Given the description of an element on the screen output the (x, y) to click on. 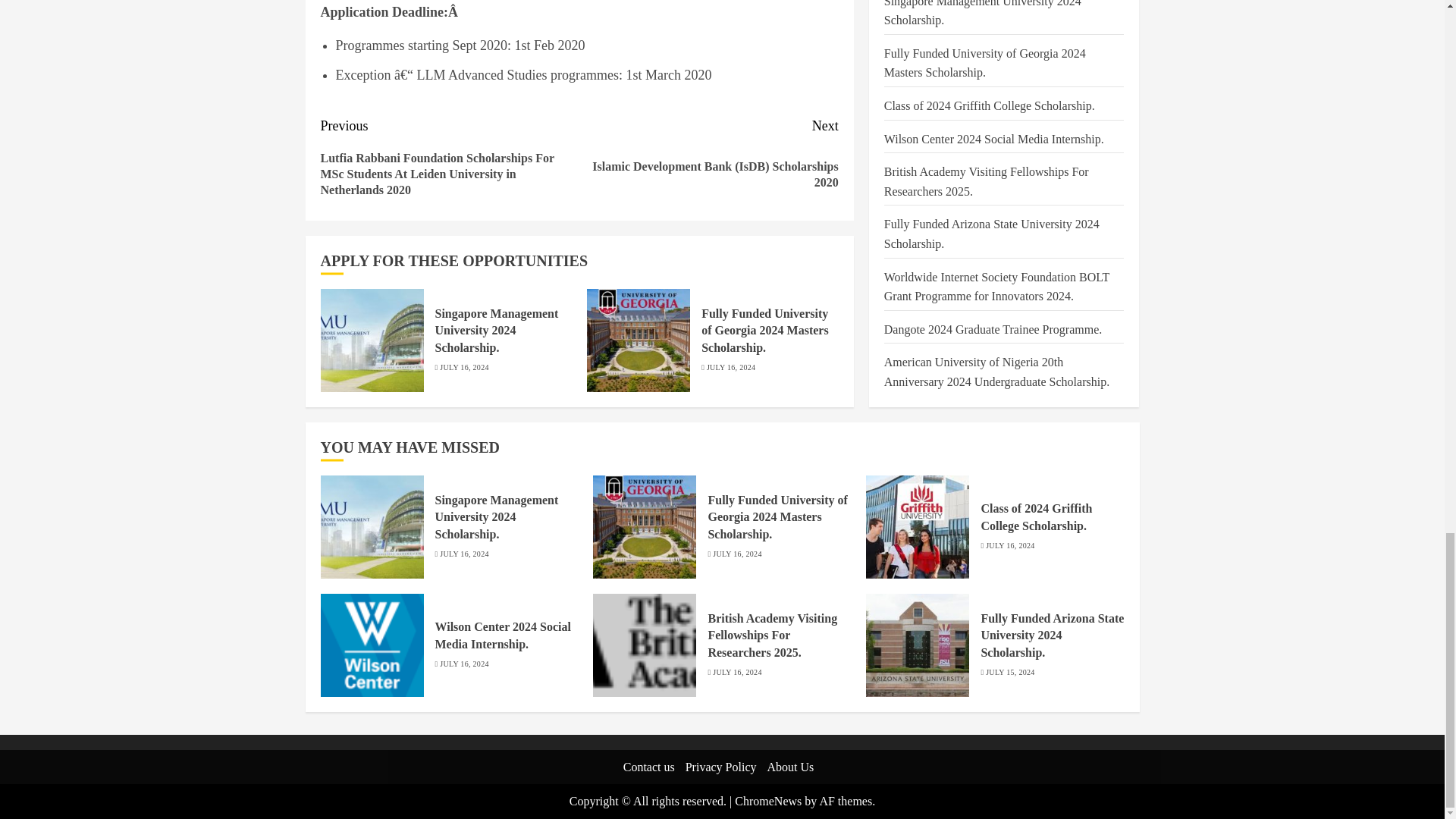
Singapore Management University 2024 Scholarship. (371, 526)
Singapore Management University 2024 Scholarship. (497, 517)
Singapore Management University 2024 Scholarship. (371, 340)
Fully Funded University of Georgia 2024 Masters Scholarship. (638, 340)
JULY 16, 2024 (463, 367)
JULY 16, 2024 (730, 367)
Fully Funded University of Georgia 2024 Masters Scholarship. (643, 526)
Fully Funded University of Georgia 2024 Masters Scholarship. (764, 330)
Singapore Management University 2024 Scholarship. (497, 330)
JULY 16, 2024 (463, 553)
